Given the description of an element on the screen output the (x, y) to click on. 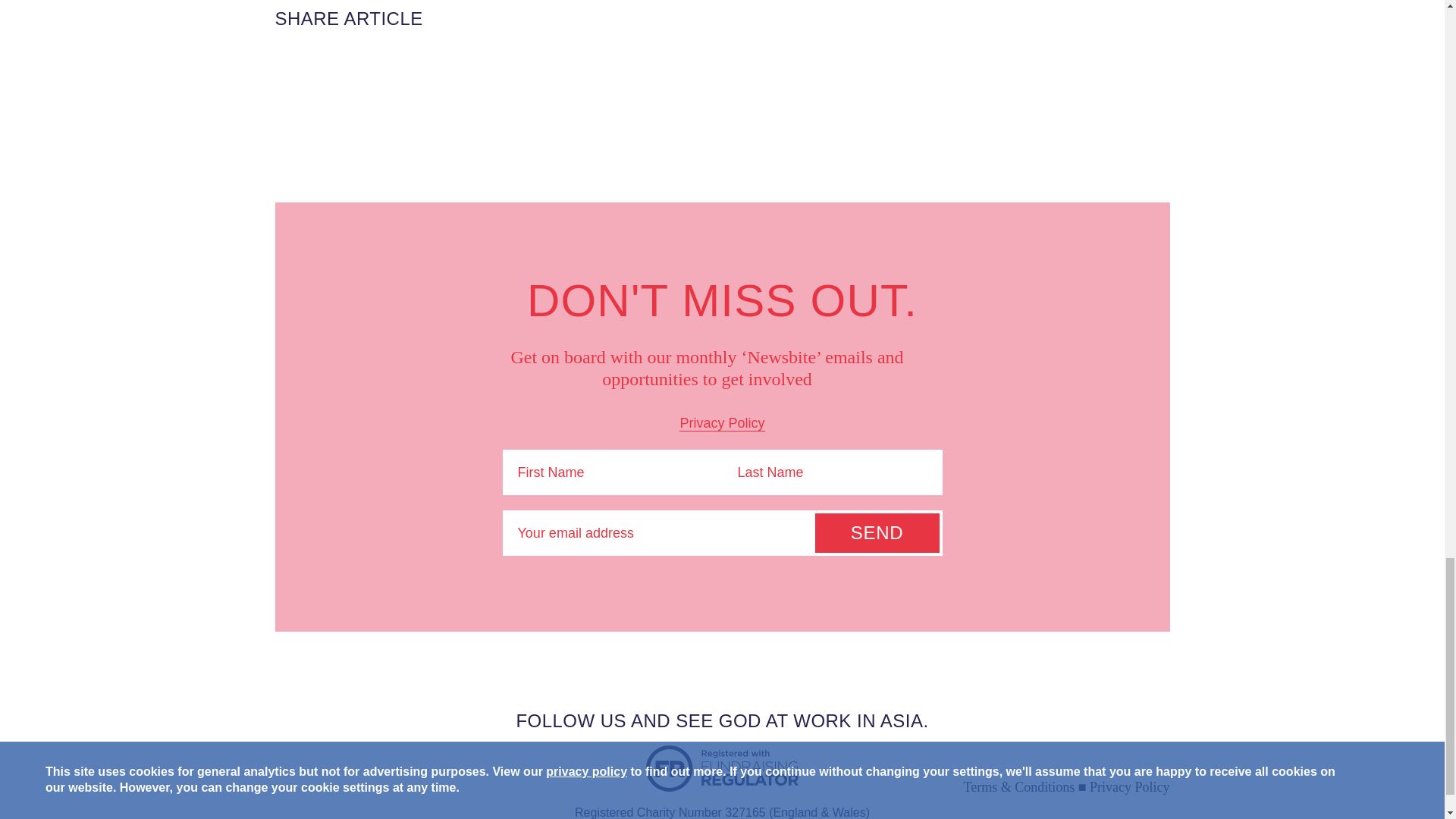
mail (408, 75)
whatsapp (465, 75)
twitter (296, 75)
facebook (1035, 721)
facebook (353, 75)
instagram (1090, 721)
SEND (876, 532)
twitter (978, 721)
Privacy Policy (721, 423)
vimeo (1147, 721)
